Given the description of an element on the screen output the (x, y) to click on. 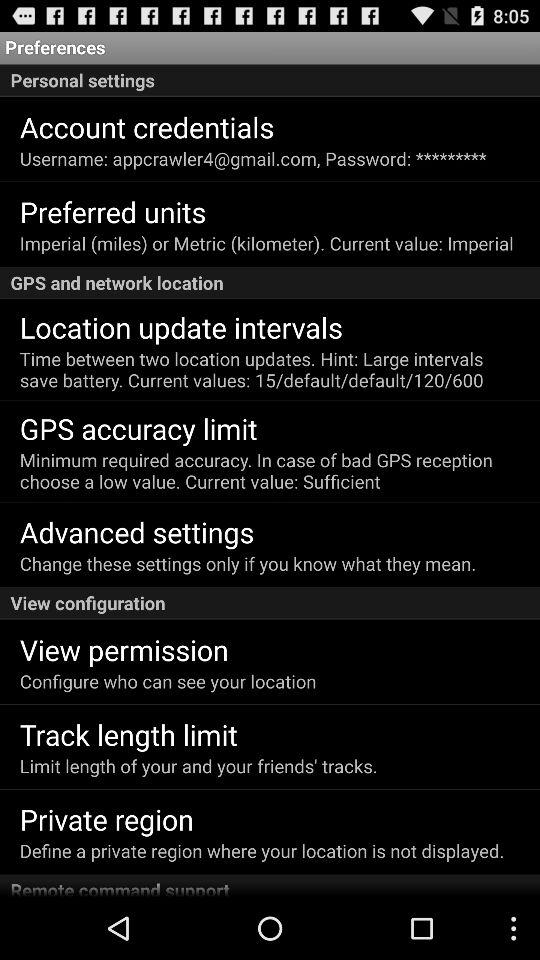
tap the icon below preferences app (270, 80)
